Given the description of an element on the screen output the (x, y) to click on. 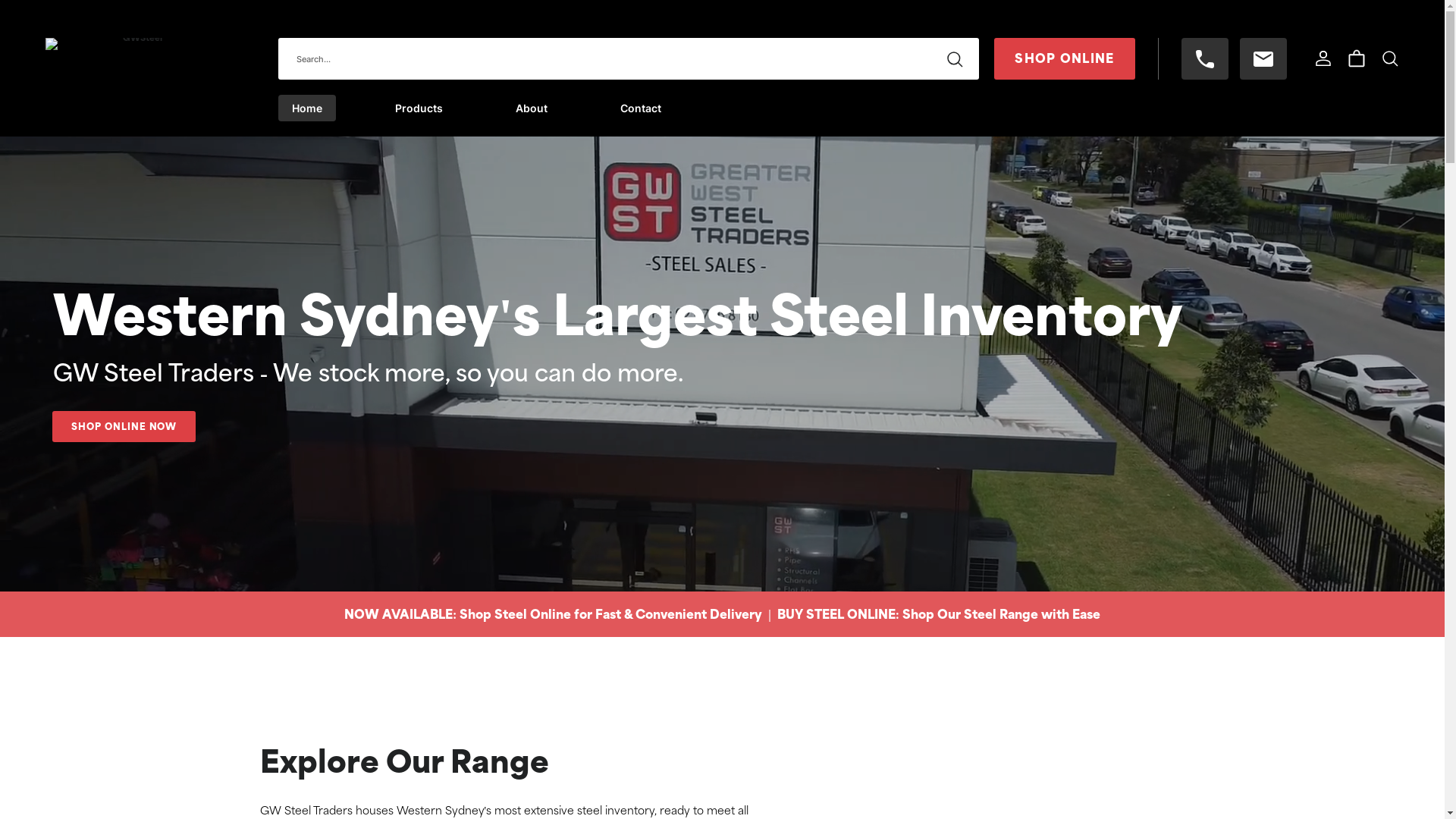
SHOP ONLINE Element type: text (1064, 58)
Account Element type: text (1323, 58)
Contact Element type: text (640, 107)
SHOP ONLINE NOW Element type: text (123, 426)
Search Element type: text (1389, 58)
Products Element type: text (417, 107)
About Element type: text (531, 107)
Cart Element type: text (1356, 58)
GWSteel Element type: hover (136, 71)
Home Element type: text (306, 107)
